Given the description of an element on the screen output the (x, y) to click on. 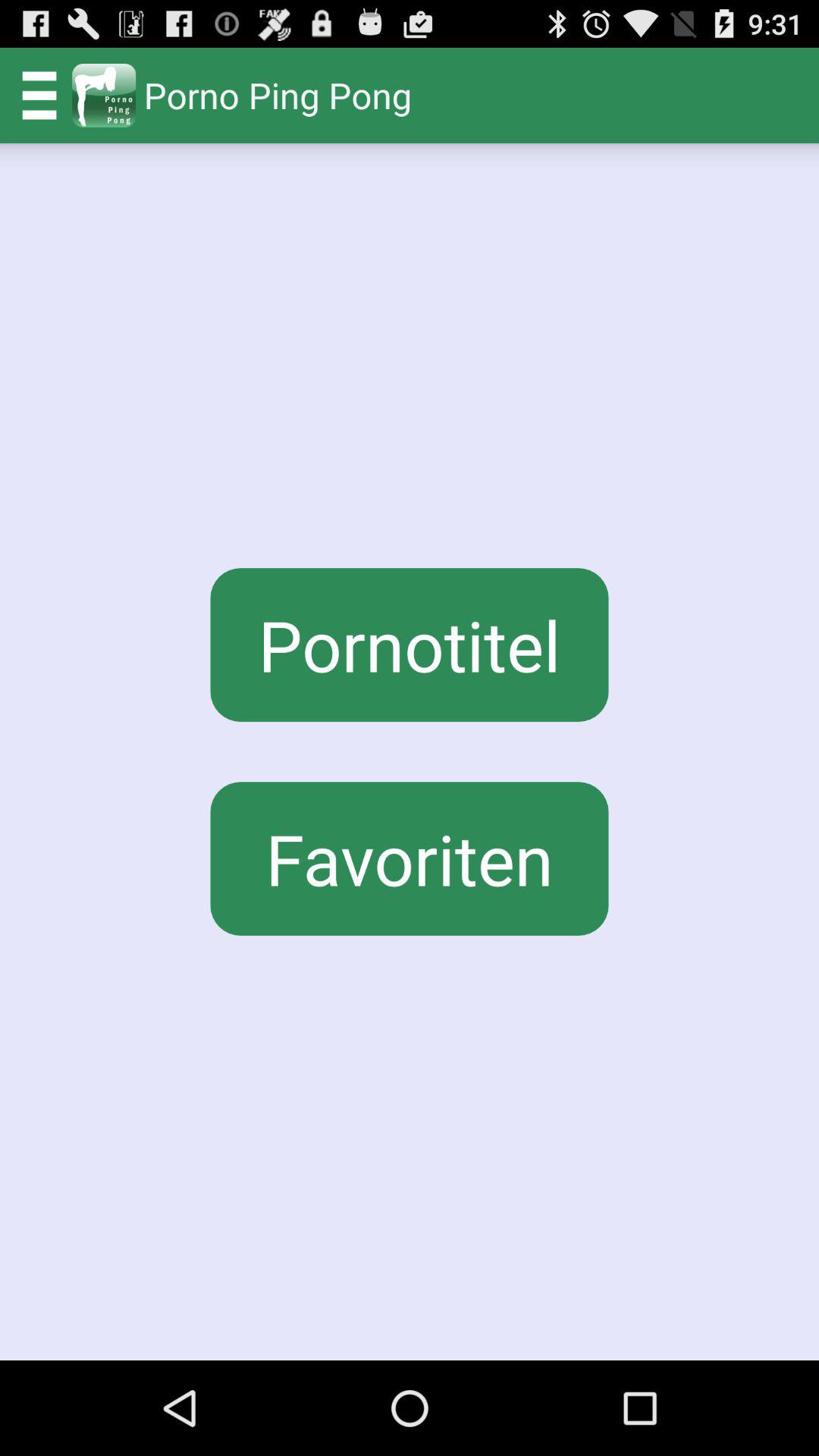
flip until favoriten button (409, 858)
